Given the description of an element on the screen output the (x, y) to click on. 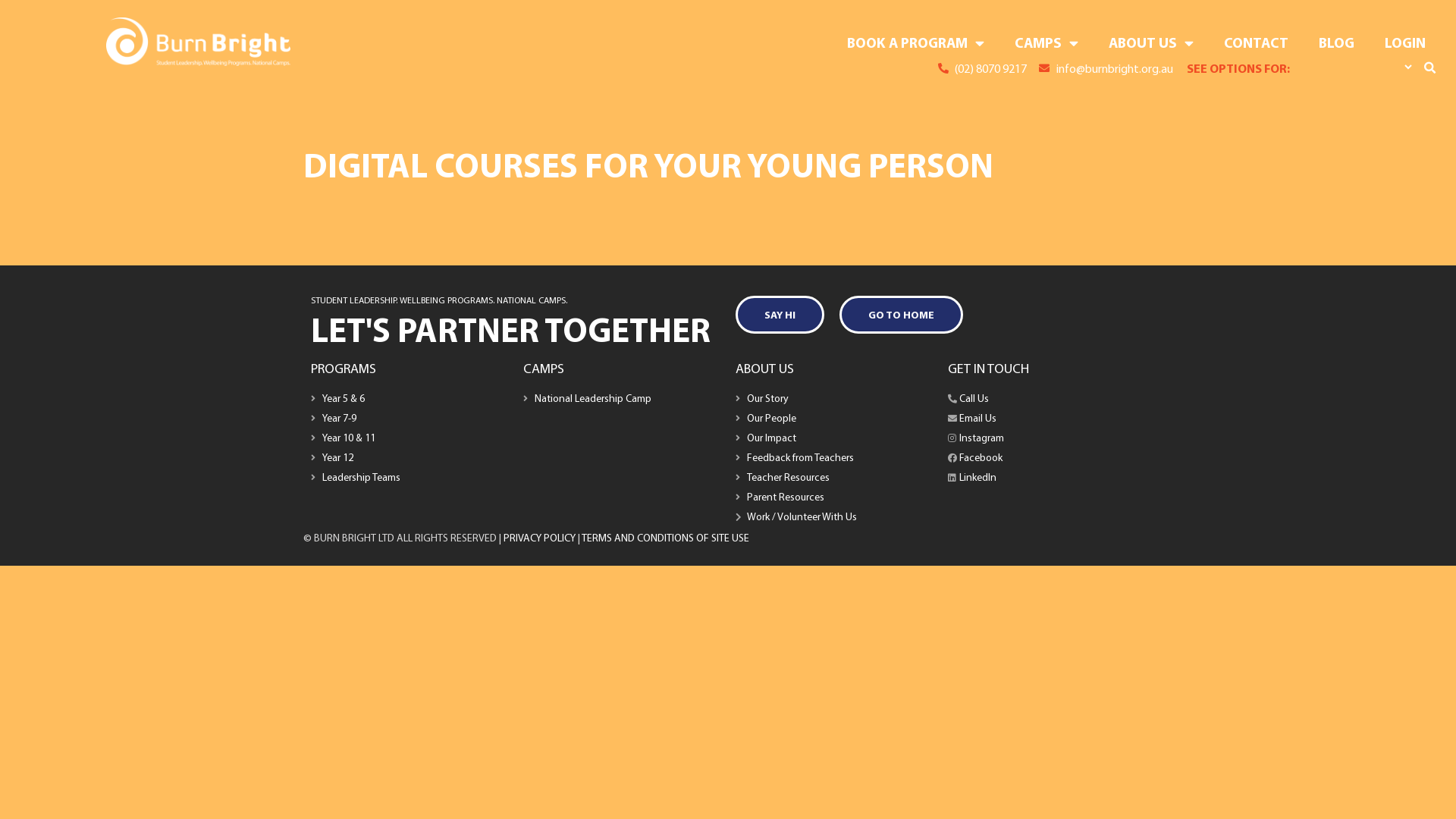
Year 12 Element type: text (409, 457)
Year 10 & 11 Element type: text (409, 437)
SAY HI Element type: text (779, 314)
Our Impact Element type: text (833, 437)
ABOUT US Element type: text (764, 367)
Call Us Element type: text (1046, 398)
Parent Resources Element type: text (833, 497)
GET IN TOUCH Element type: text (988, 367)
Work / Volunteer With Us Element type: text (833, 516)
PROGRAMS Element type: text (343, 367)
ABOUT US Element type: text (1150, 42)
National Leadership Camp Element type: text (621, 398)
BOOK A PROGRAM Element type: text (915, 42)
CONTACT Element type: text (1255, 42)
Year 5 & 6 Element type: text (409, 398)
PRIVACY POLICY Element type: text (539, 537)
Our Story Element type: text (833, 398)
Email Us Element type: text (1046, 418)
Our People Element type: text (833, 418)
CAMPS Element type: text (543, 367)
TERMS AND CONDITIONS OF SITE USE Element type: text (665, 537)
(02) 8070 9217 Element type: text (982, 68)
Year 7-9 Element type: text (409, 418)
Teacher Resources Element type: text (833, 477)
LOGIN Element type: text (1404, 42)
Leadership Teams Element type: text (409, 477)
BLOG Element type: text (1336, 42)
LinkedIn Element type: text (1046, 477)
Feedback from Teachers Element type: text (833, 457)
GO TO HOME Element type: text (901, 314)
info@burnbright.org.au Element type: text (1105, 68)
Instagram Element type: text (1046, 437)
CAMPS Element type: text (1046, 42)
Facebook Element type: text (1046, 457)
